Given the description of an element on the screen output the (x, y) to click on. 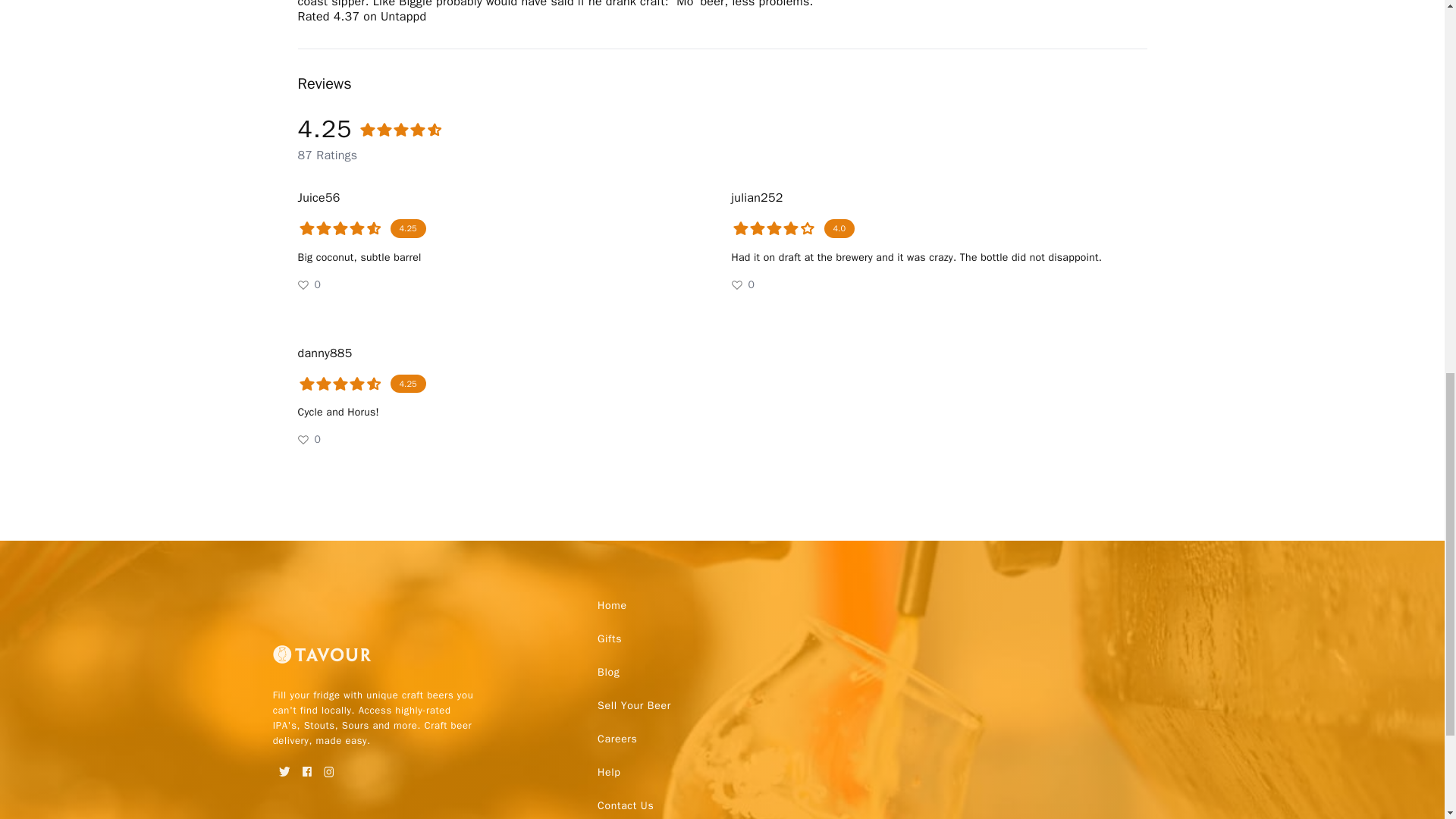
sell your beer (633, 705)
blog (608, 672)
Help (608, 772)
Instagram (328, 766)
Contact Us (625, 804)
home (612, 605)
Twitter (285, 766)
Facebook (307, 766)
gifts (609, 639)
Sell Your Beer (633, 705)
